Given the description of an element on the screen output the (x, y) to click on. 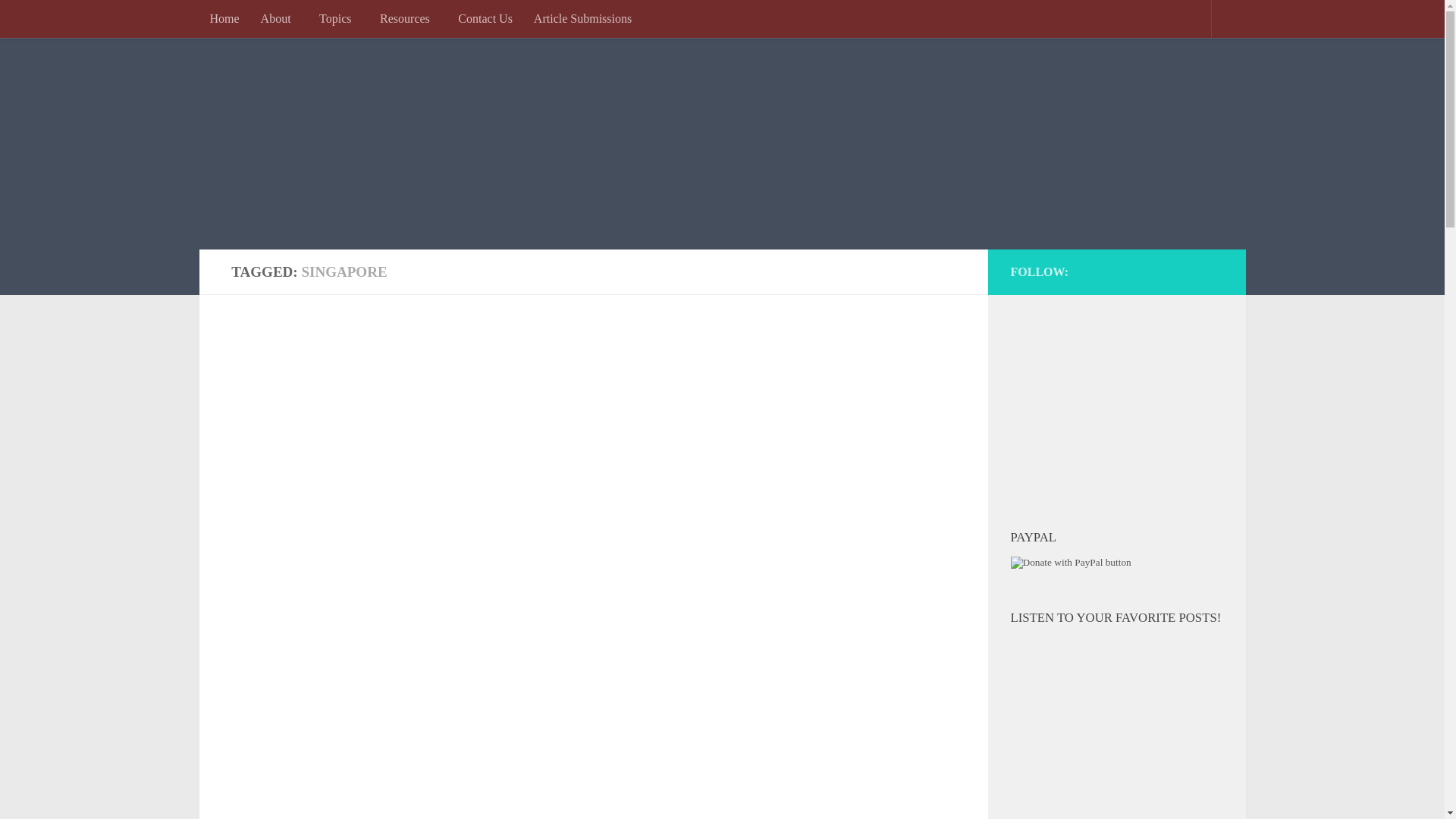
Resources (407, 18)
Skip to content (66, 22)
Article Submissions (582, 18)
PayPal - The safer, easier way to pay online! (1070, 562)
RSS Feed (1207, 268)
Contact Us (484, 18)
About (279, 18)
Home (223, 18)
Topics (338, 18)
